Given the description of an element on the screen output the (x, y) to click on. 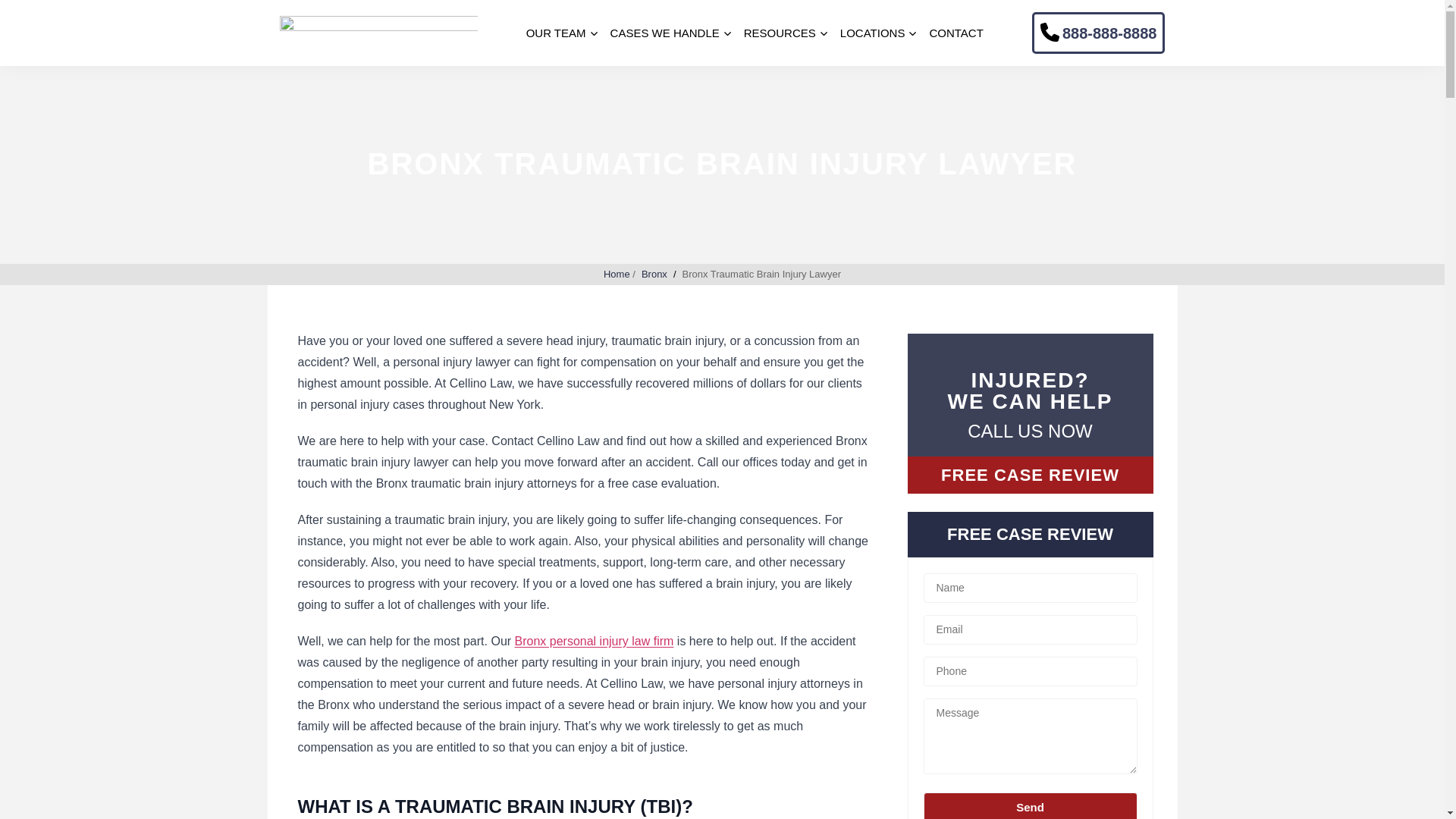
RESOURCES (779, 33)
Send (1030, 805)
CASES WE HANDLE (664, 33)
OUR TEAM (555, 33)
